Given the description of an element on the screen output the (x, y) to click on. 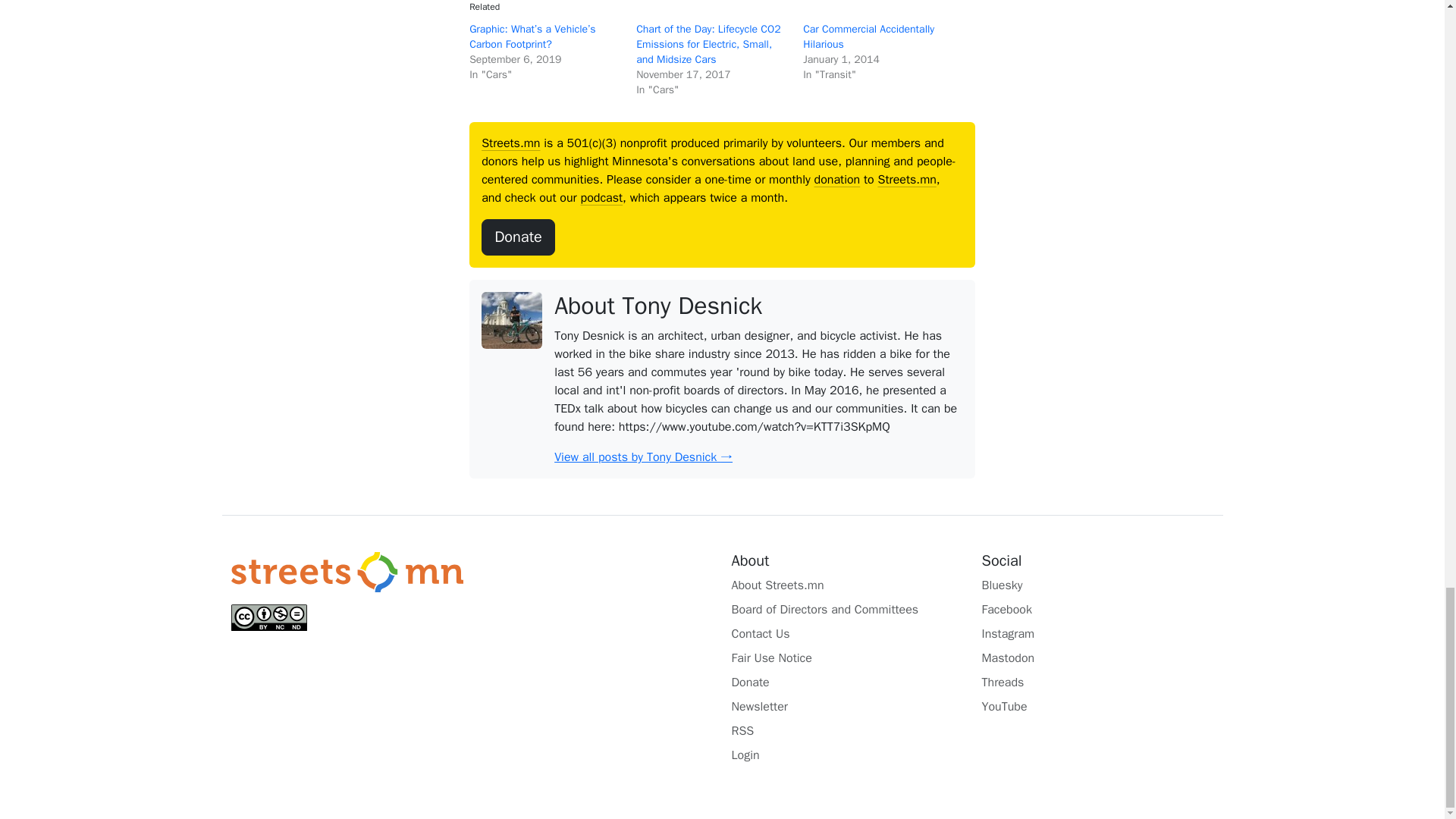
Streets.mn (906, 179)
Streets.mn (510, 142)
donation (836, 179)
podcast (601, 197)
Car Commercial Accidentally Hilarious (868, 36)
